Given the description of an element on the screen output the (x, y) to click on. 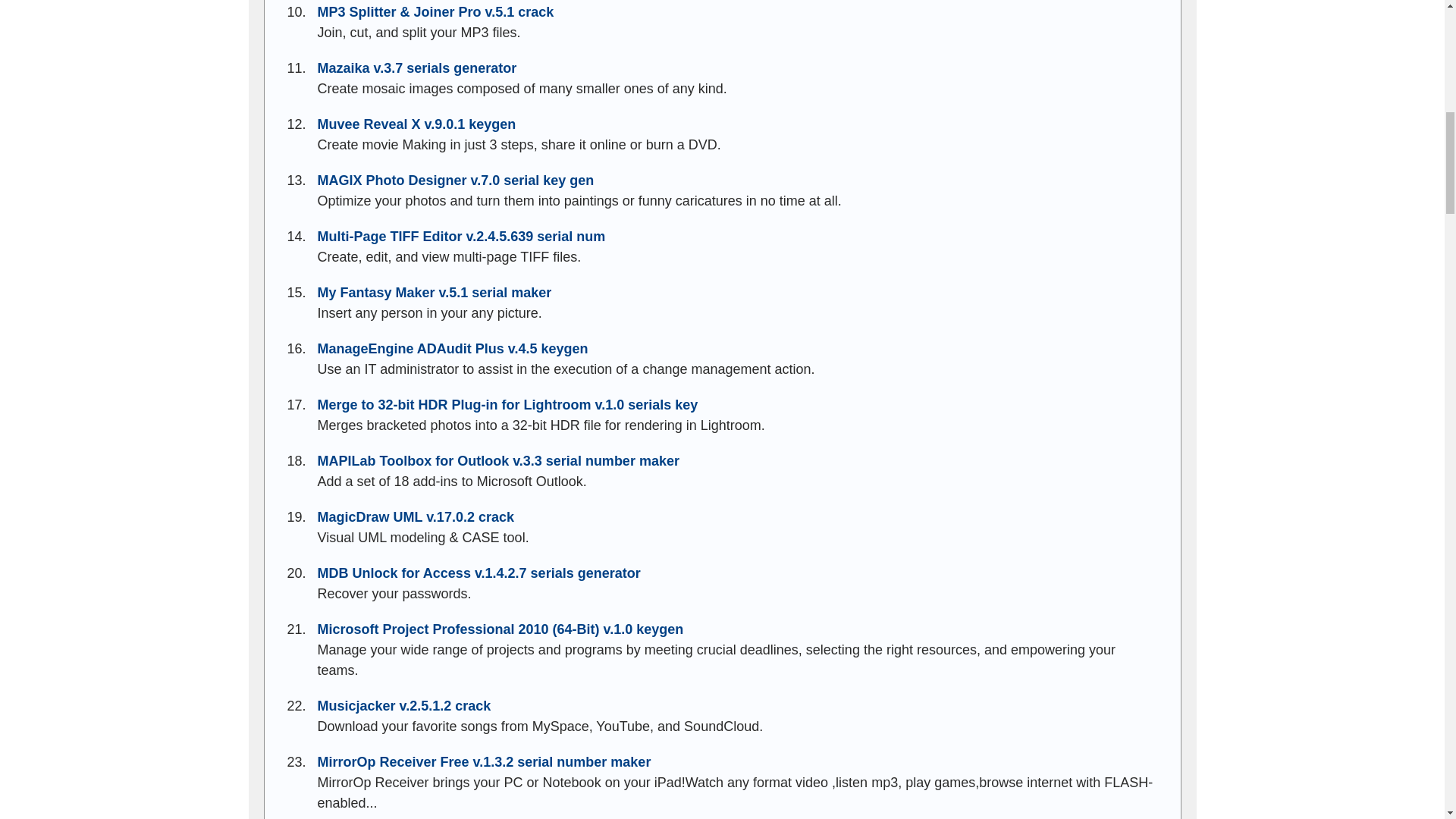
MirrorOp Receiver Free v.1.3.2 serial number maker (483, 761)
Merge to 32-bit HDR Plug-in for Lightroom v.1.0 serials key (507, 404)
Muvee Reveal X v.9.0.1 keygen (416, 124)
Mazaika v.3.7 serials generator (416, 68)
MAGIX Photo Designer v.7.0 serial key gen (455, 180)
ManageEngine ADAudit Plus v.4.5 keygen (452, 348)
MDB Unlock for Access v.1.4.2.7 serials generator (478, 572)
MagicDraw UML v.17.0.2 crack (415, 516)
Multi-Page TIFF Editor v.2.4.5.639 serial num (461, 236)
My Fantasy Maker v.5.1 serial maker (434, 292)
